Given the description of an element on the screen output the (x, y) to click on. 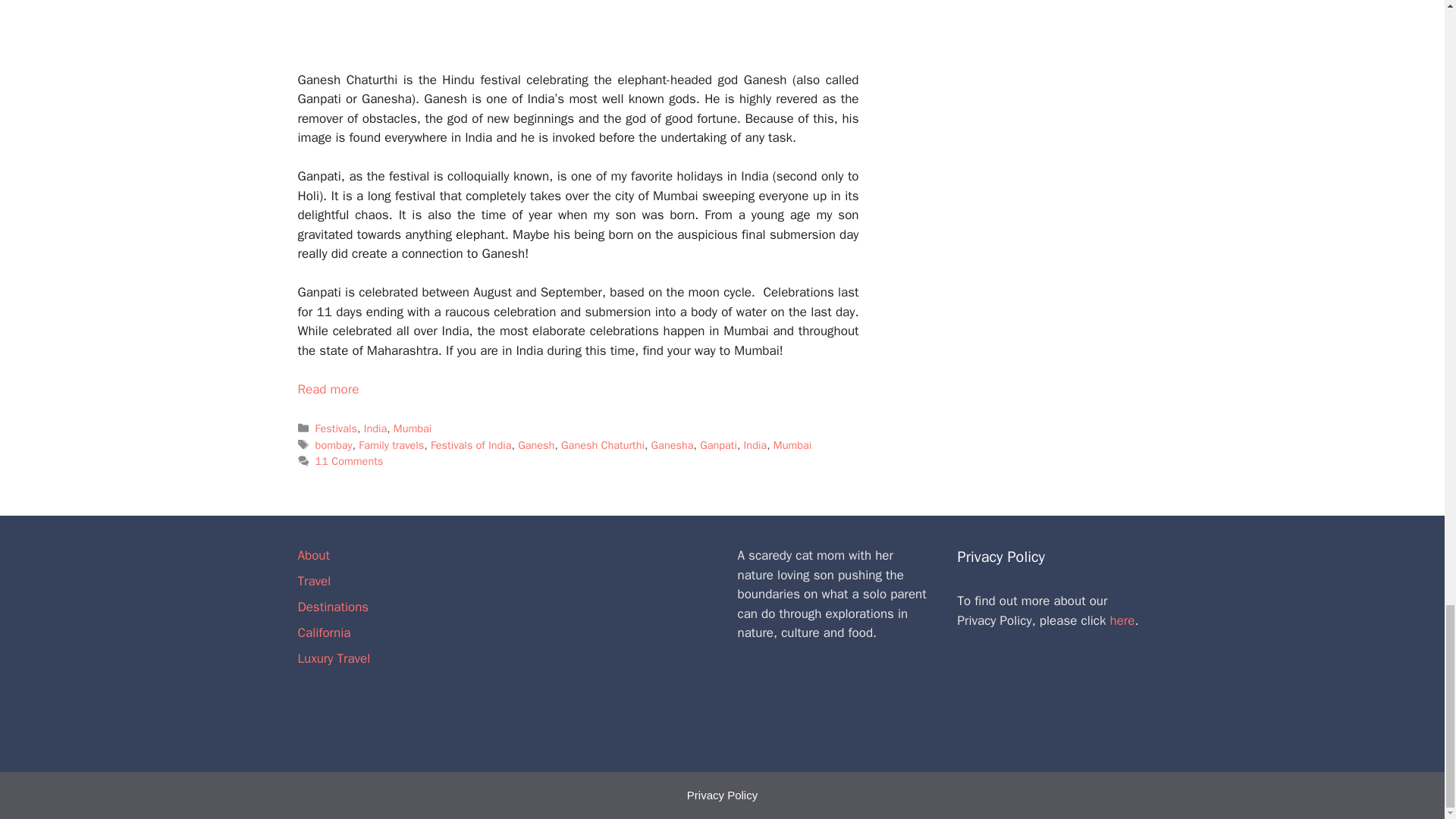
Get to Know Us (611, 640)
Celebrating Ganesh Chaturthi in Mumbai (327, 389)
